Given the description of an element on the screen output the (x, y) to click on. 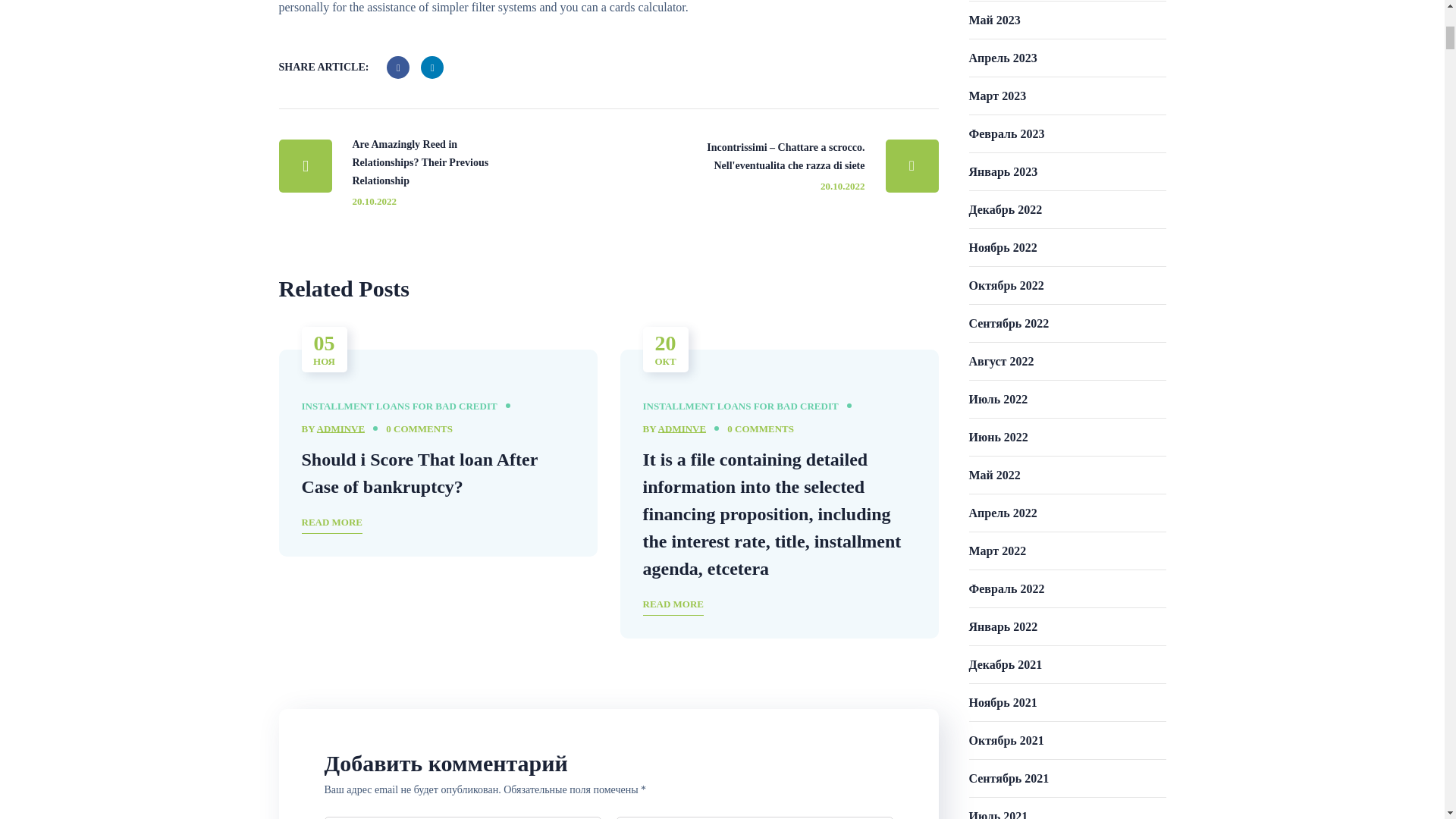
Leave a reply (418, 428)
ADMINVE (682, 428)
Should i Score That loan After Case of bankruptcy? (419, 472)
INSTALLMENT LOANS FOR BAD CREDIT (740, 405)
ADMINVE (341, 428)
READ MORE (331, 523)
0 COMMENTS (418, 428)
READ MORE (673, 605)
Leave a reply (759, 428)
0 COMMENTS (759, 428)
